Given the description of an element on the screen output the (x, y) to click on. 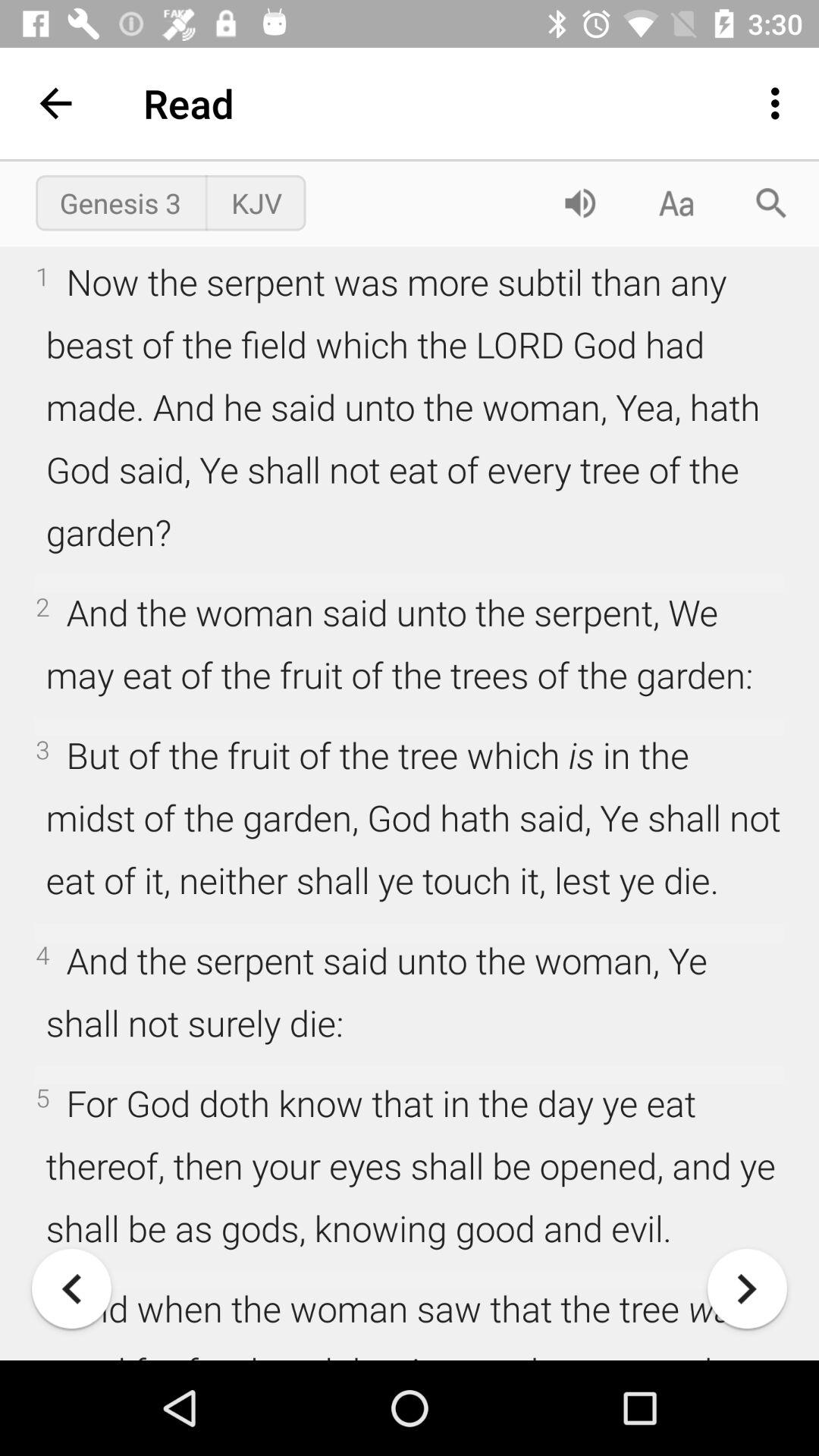
change font size (675, 202)
